Given the description of an element on the screen output the (x, y) to click on. 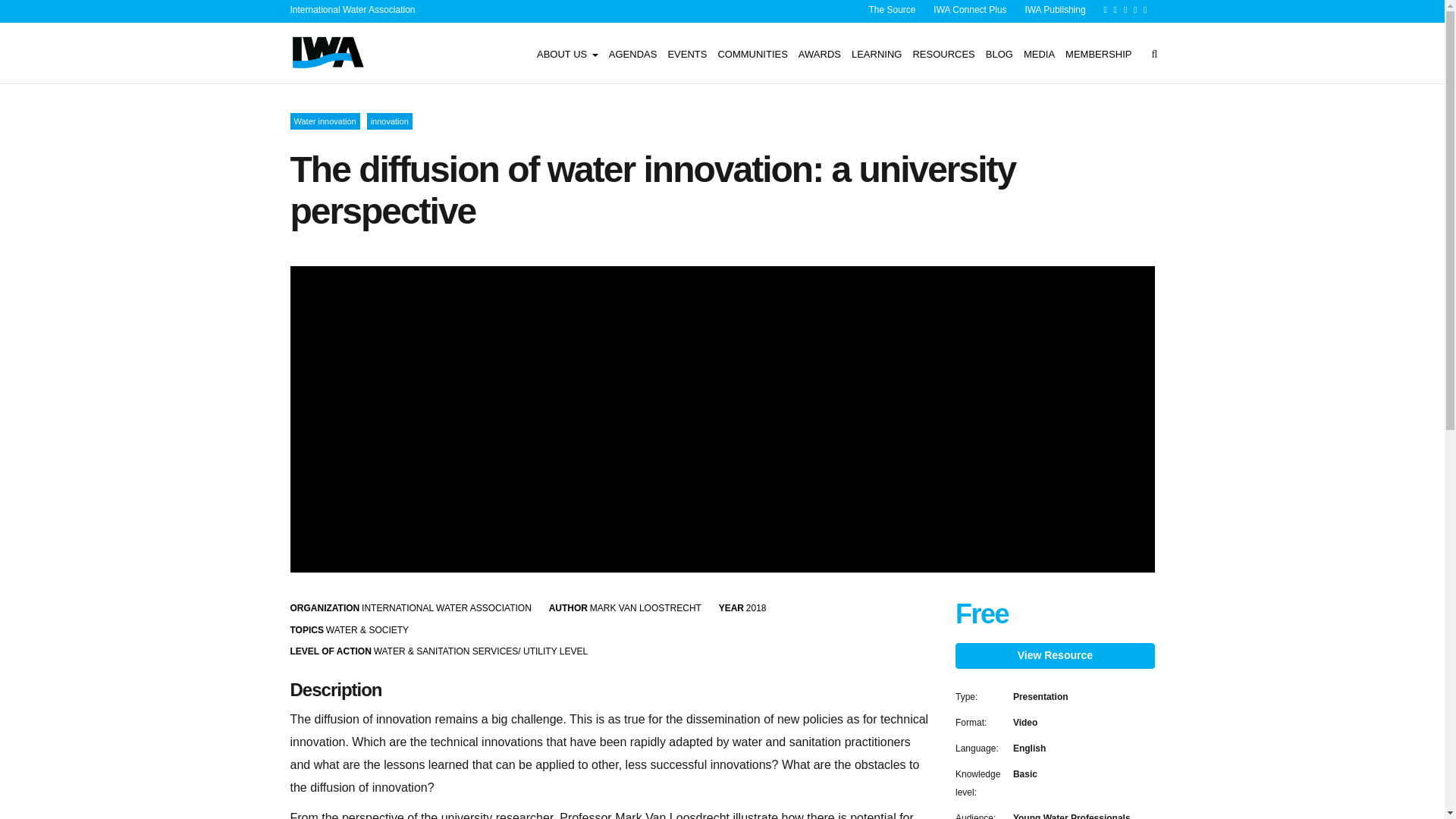
View Resource (1054, 655)
The Source (892, 9)
LEARNING (876, 52)
IWA Publishing (1054, 9)
IWA Connect Plus (969, 9)
ABOUT US (567, 52)
RESOURCES (943, 52)
COMMUNITIES (751, 52)
AGENDAS (633, 52)
MEMBERSHIP (1098, 52)
